Given the description of an element on the screen output the (x, y) to click on. 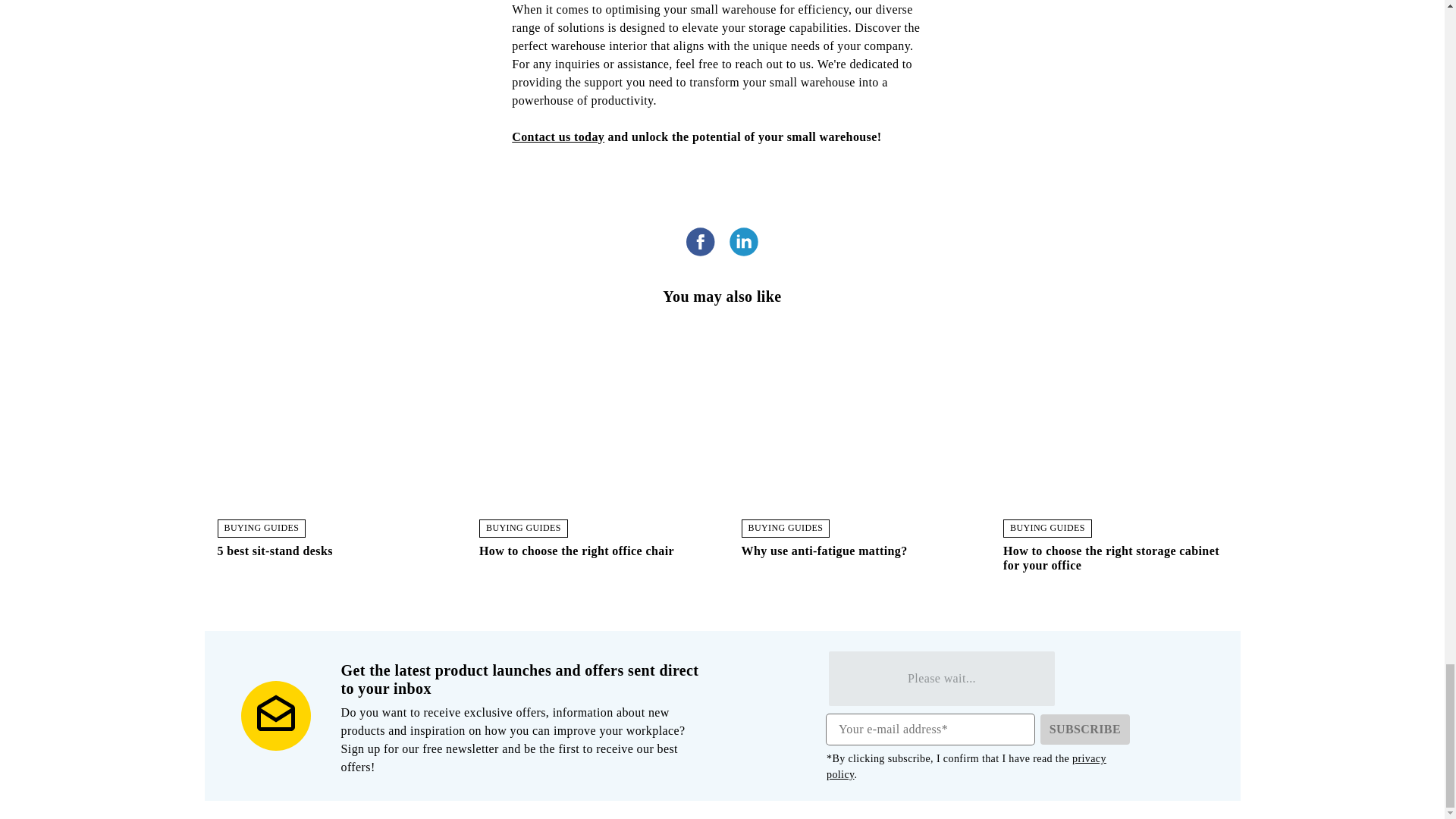
5 best sit-stand desks (328, 556)
Contact us today (558, 136)
BUYING GUIDES (260, 528)
